Given the description of an element on the screen output the (x, y) to click on. 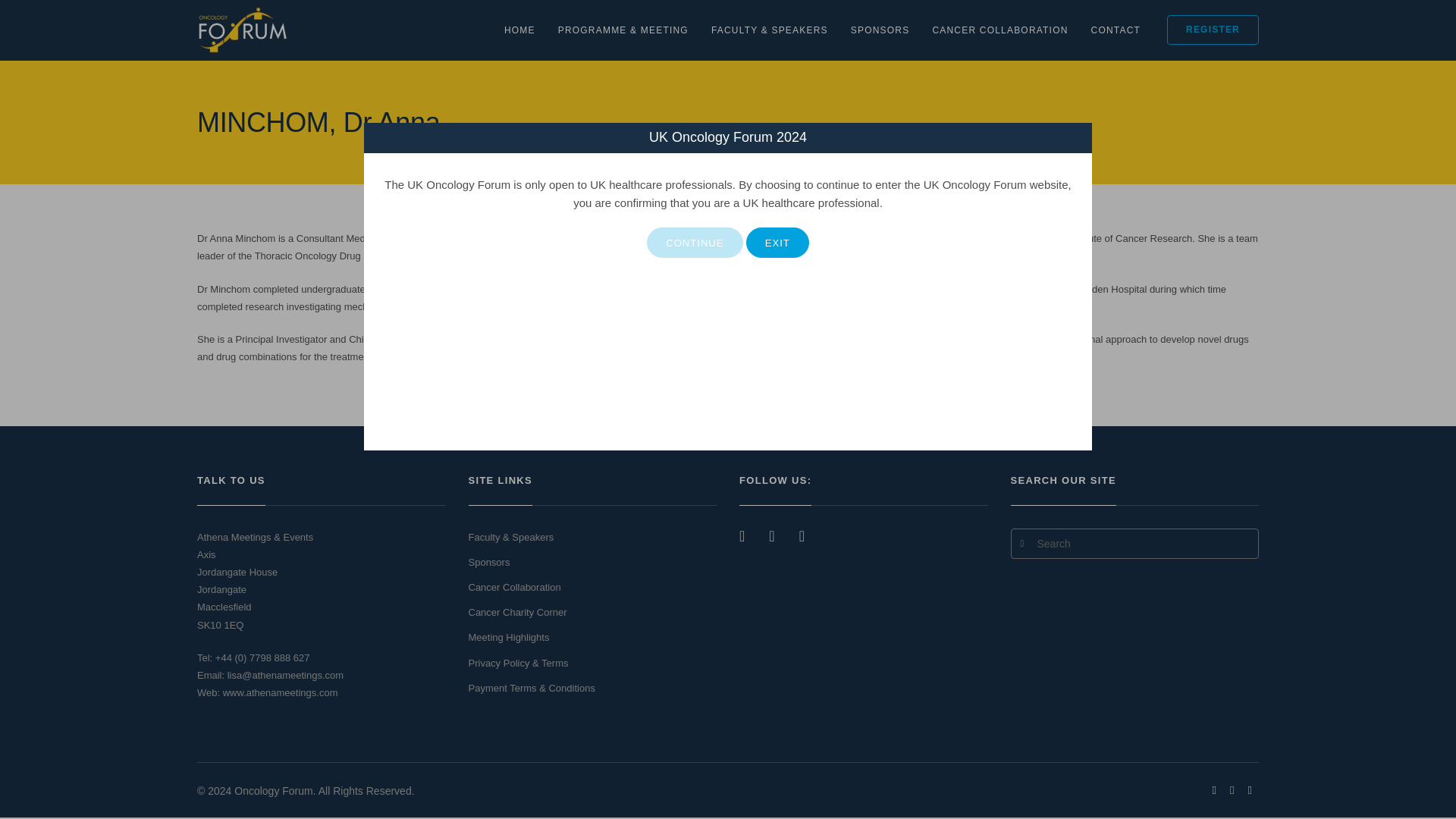
Cancer Collaboration (514, 586)
Exit (777, 242)
CANCER COLLABORATION (999, 30)
Cancer Charity Corner (517, 612)
Meeting Highlights (509, 636)
Continue (694, 242)
Sponsors (489, 562)
REGISTER (1213, 30)
Continue (694, 242)
CONTACT (1116, 30)
SPONSORS (880, 30)
